Given the description of an element on the screen output the (x, y) to click on. 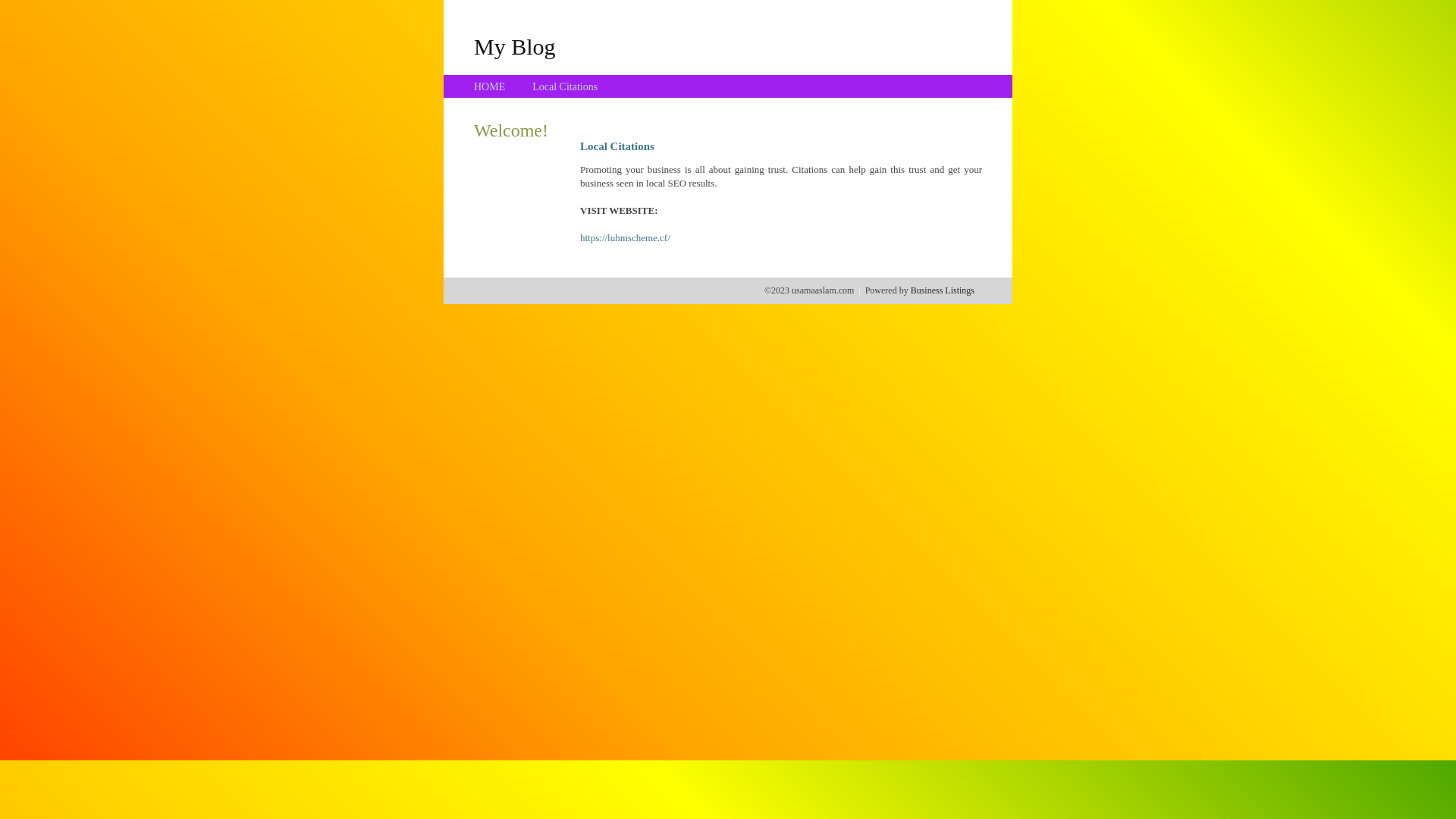
HOME Element type: text (489, 86)
https://luhmscheme.cf/ Element type: text (625, 237)
Local Citations Element type: text (564, 86)
Business Listings Element type: text (942, 290)
My Blog Element type: text (514, 46)
